Given the description of an element on the screen output the (x, y) to click on. 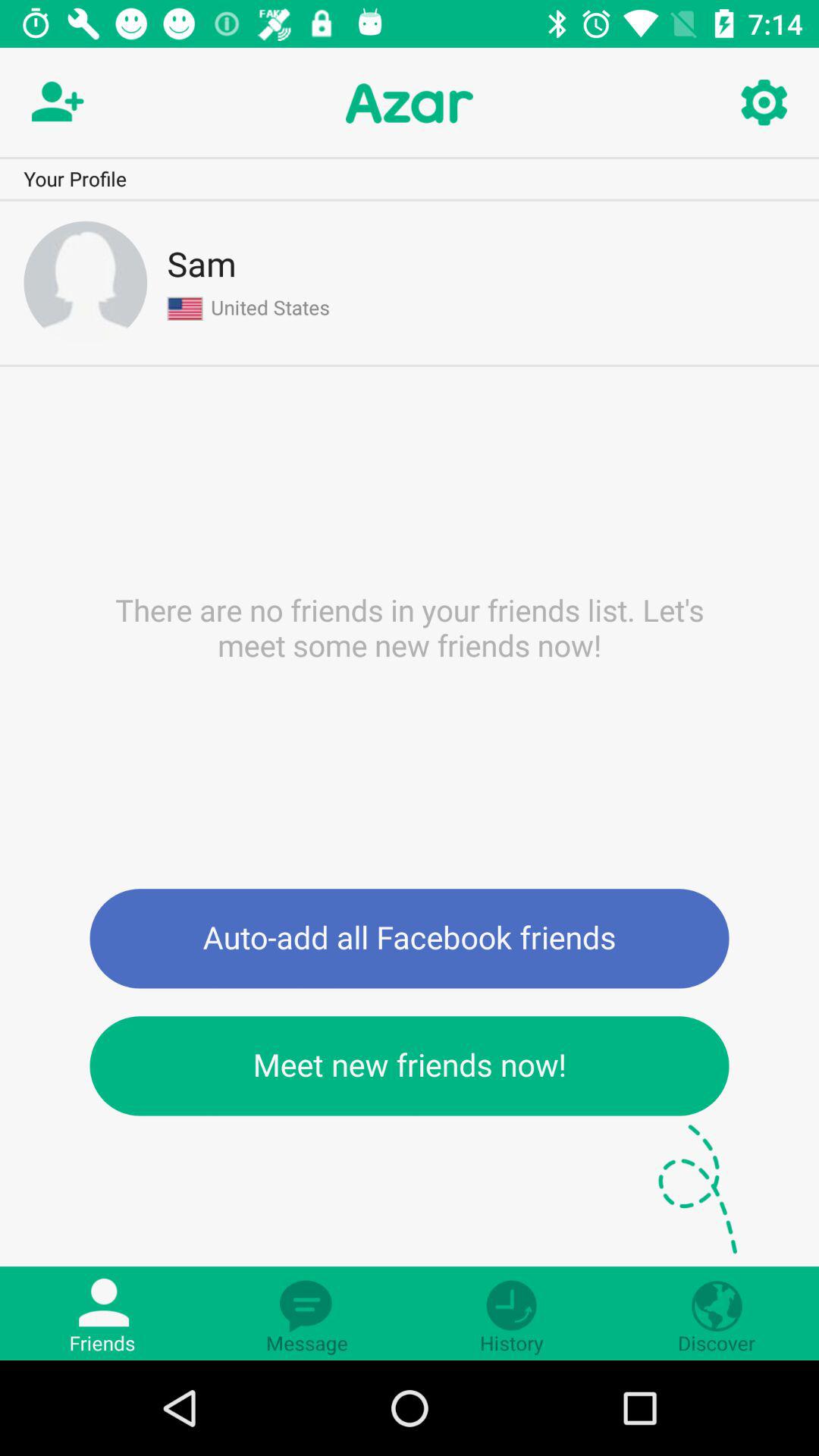
add new contac (55, 103)
